Given the description of an element on the screen output the (x, y) to click on. 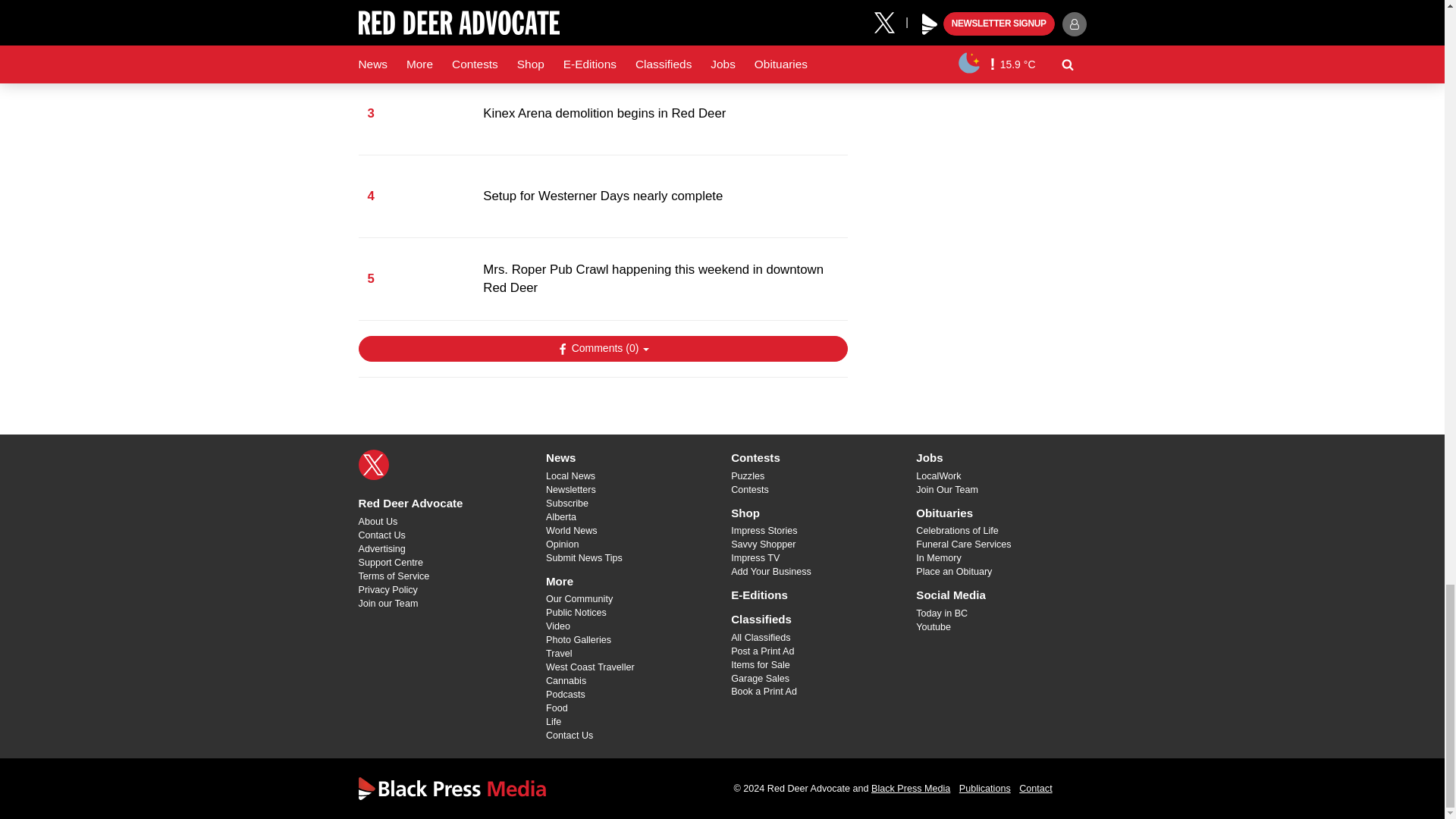
X (373, 464)
Show Comments (602, 348)
